Given the description of an element on the screen output the (x, y) to click on. 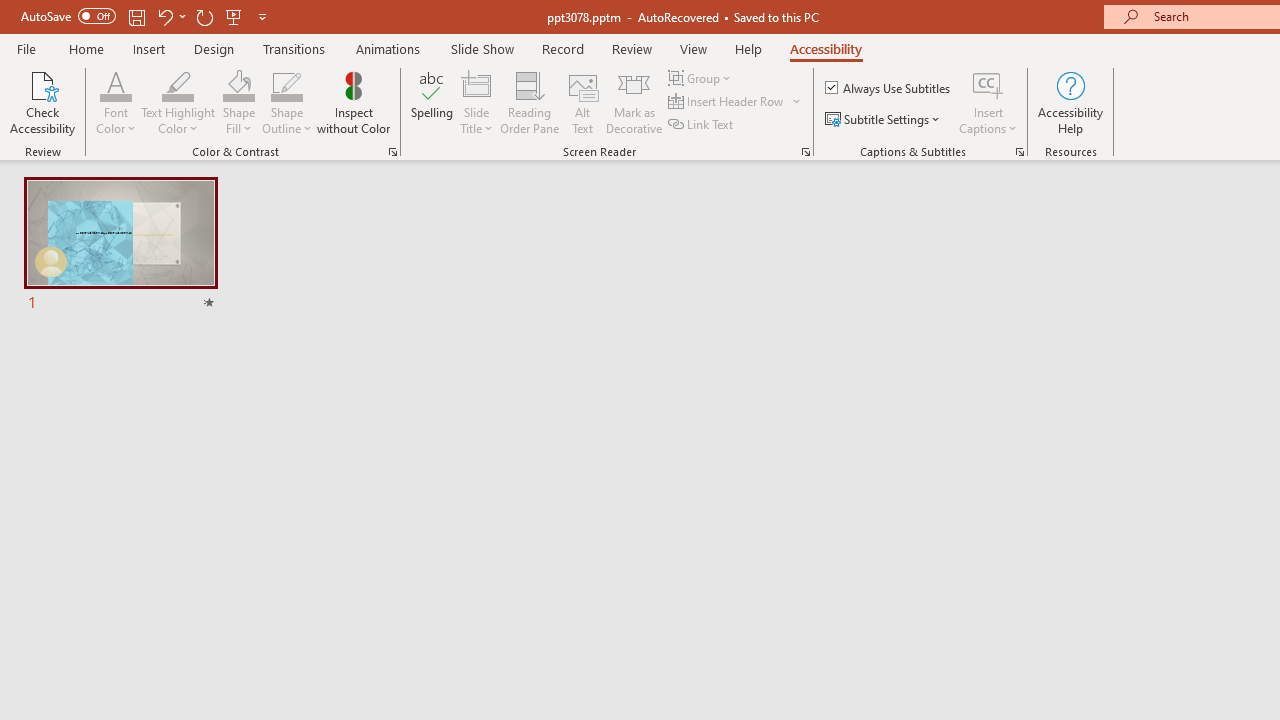
Spelling... (432, 102)
Screen Reader (805, 151)
Color & Contrast (392, 151)
Group (701, 78)
Captions & Subtitles (1019, 151)
Subtitle Settings (884, 119)
